Given the description of an element on the screen output the (x, y) to click on. 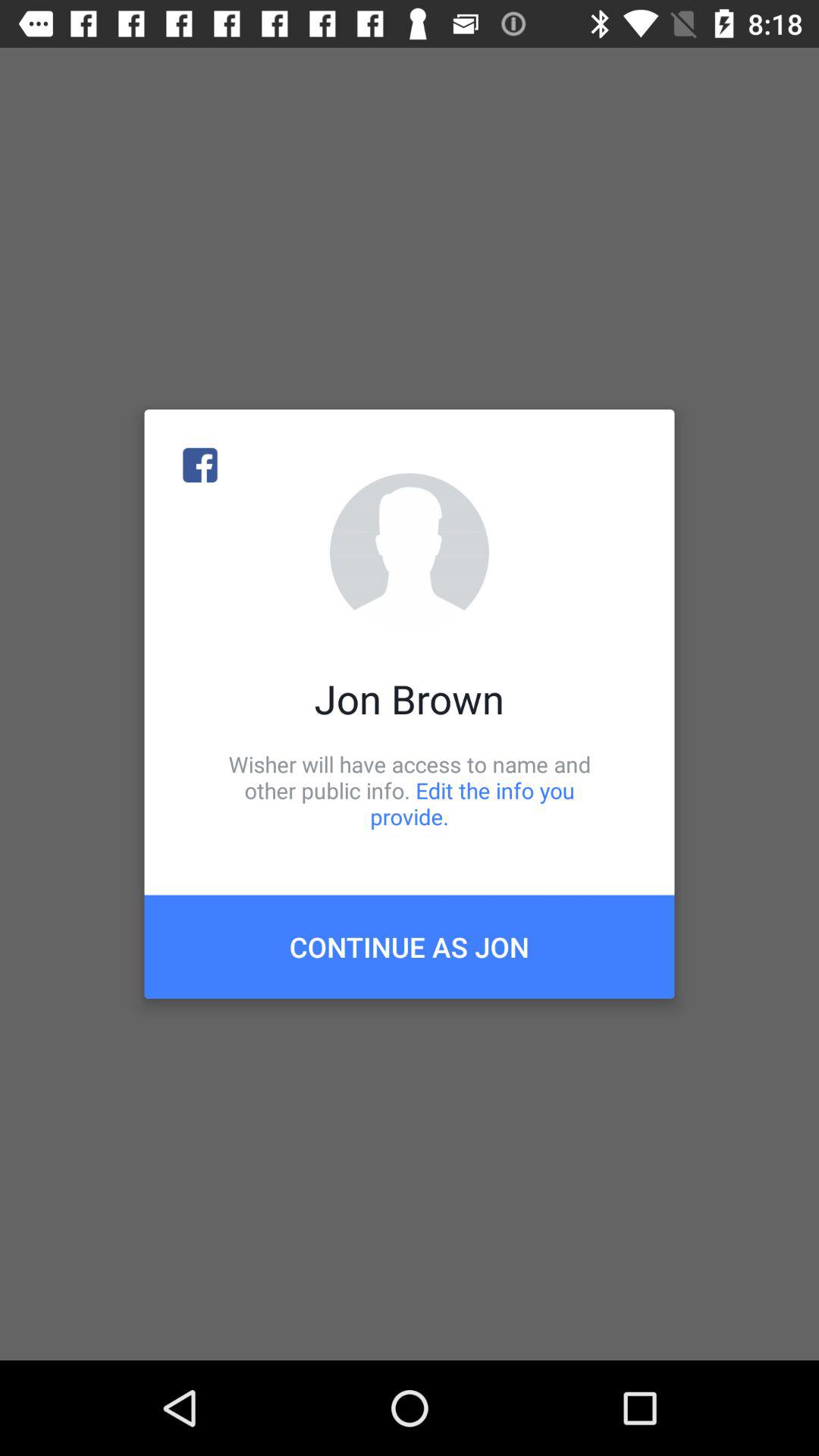
select icon below wisher will have icon (409, 946)
